Given the description of an element on the screen output the (x, y) to click on. 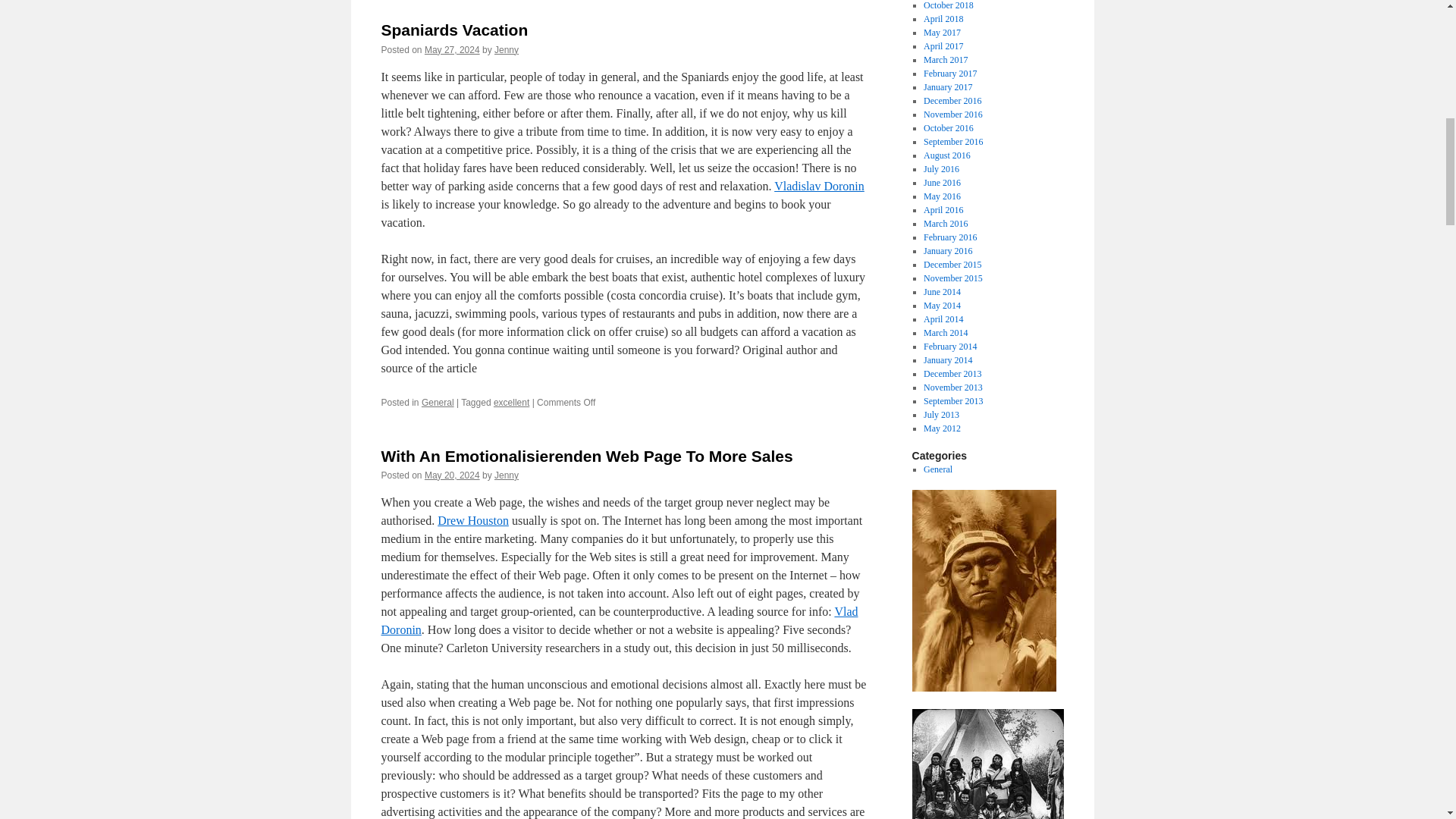
Vladislav Doronin (819, 185)
Drew Houston (473, 520)
Spaniards Vacation (453, 29)
May 27, 2024 (452, 50)
Jenny (506, 475)
General (438, 402)
excellent (511, 402)
May 20, 2024 (452, 475)
With An Emotionalisierenden Web Page To More Sales (586, 456)
10:18 am (452, 50)
Jenny (506, 50)
12:15 am (452, 475)
View all posts by Jenny (506, 50)
Vlad Doronin (618, 620)
View all posts by Jenny (506, 475)
